Given the description of an element on the screen output the (x, y) to click on. 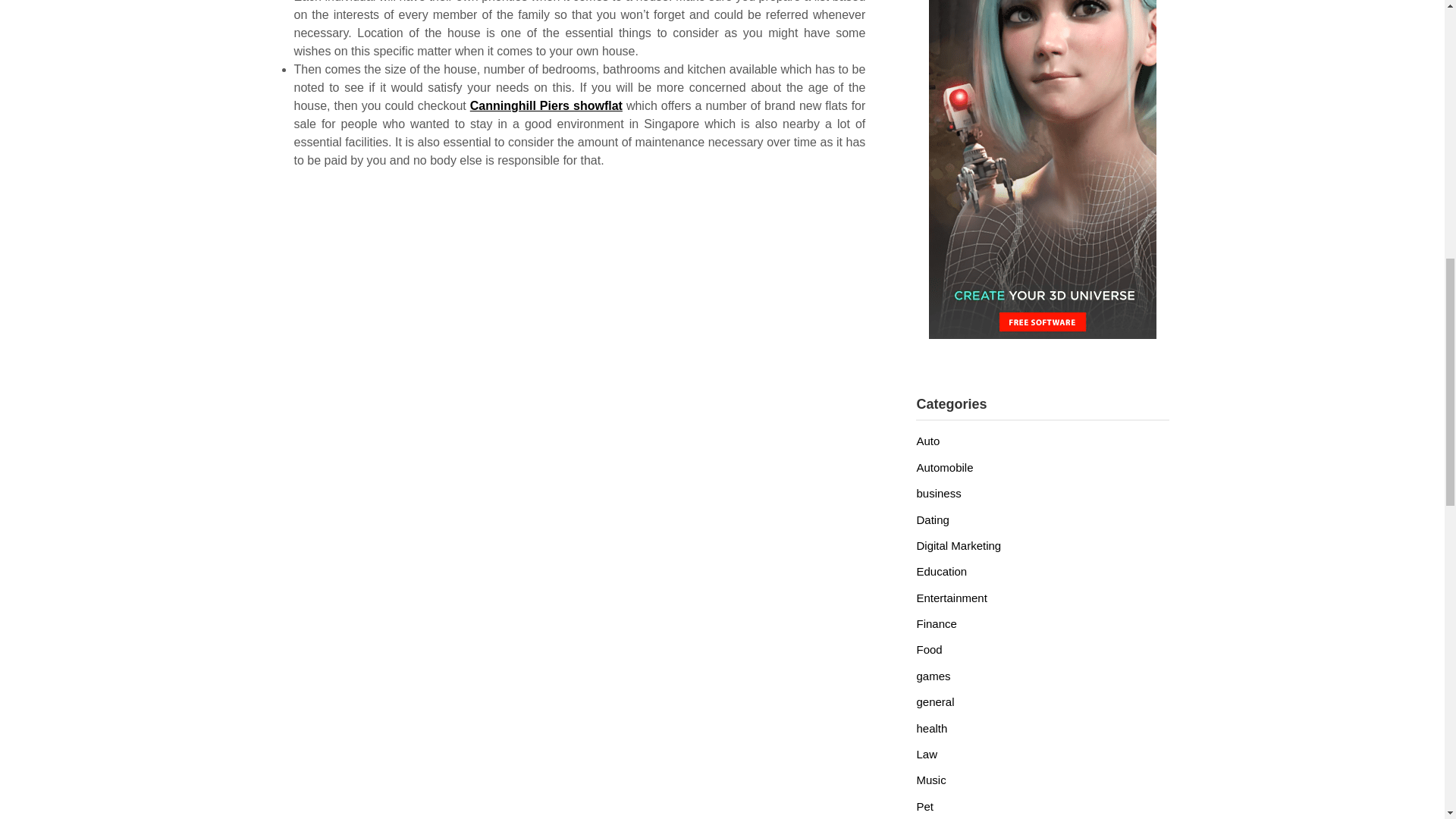
Auto (927, 440)
Automobile (943, 467)
Canninghill Piers showflat (546, 105)
Pet (924, 806)
Entertainment (951, 597)
Law (926, 753)
Music (929, 779)
games (932, 675)
Digital Marketing (958, 545)
Food (928, 649)
health (931, 727)
general (934, 701)
business (937, 492)
Dating (932, 519)
Education (940, 571)
